Given the description of an element on the screen output the (x, y) to click on. 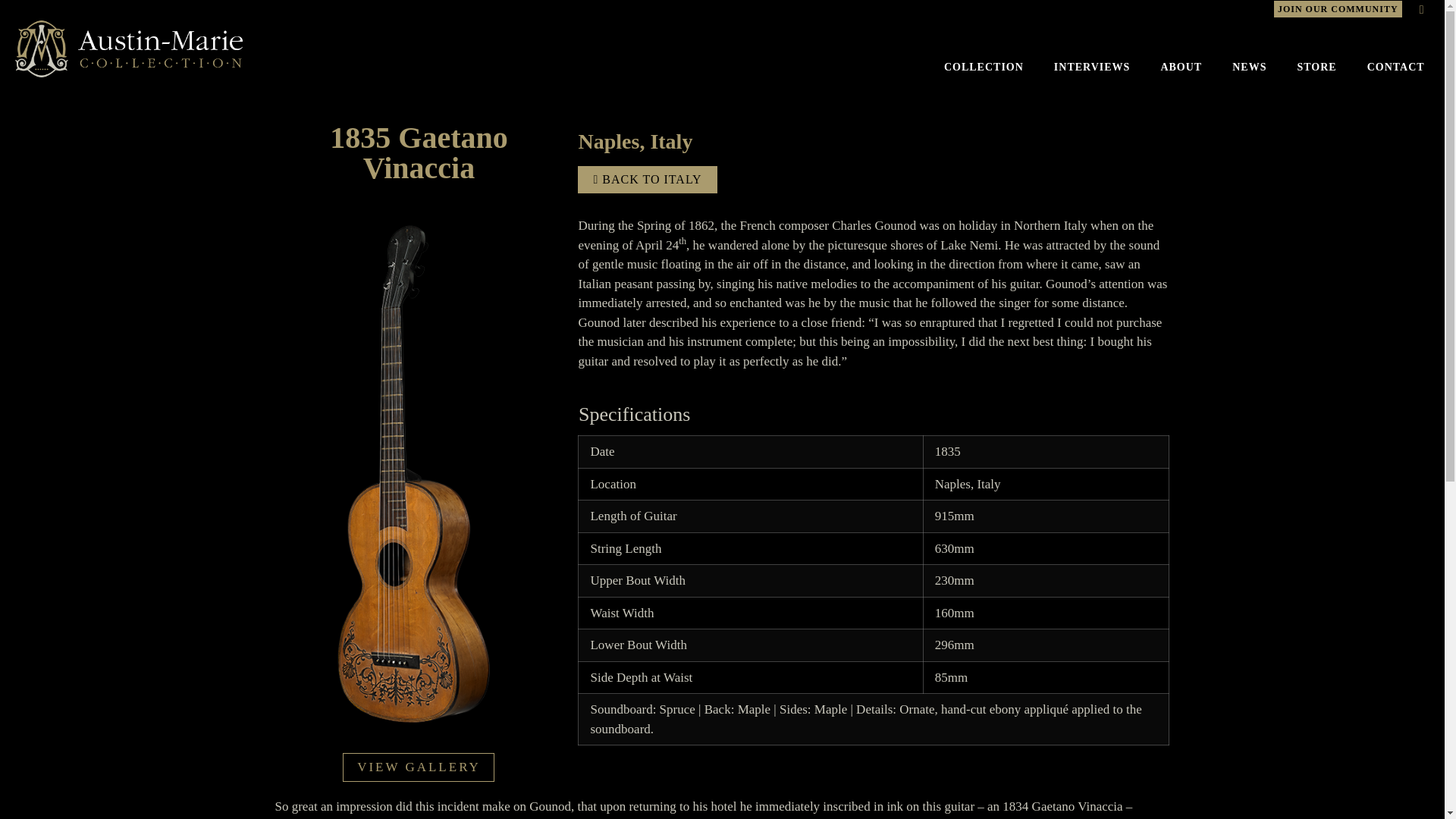
COLLECTION (983, 67)
JOIN OUR COMMUNITY (1338, 8)
